Given the description of an element on the screen output the (x, y) to click on. 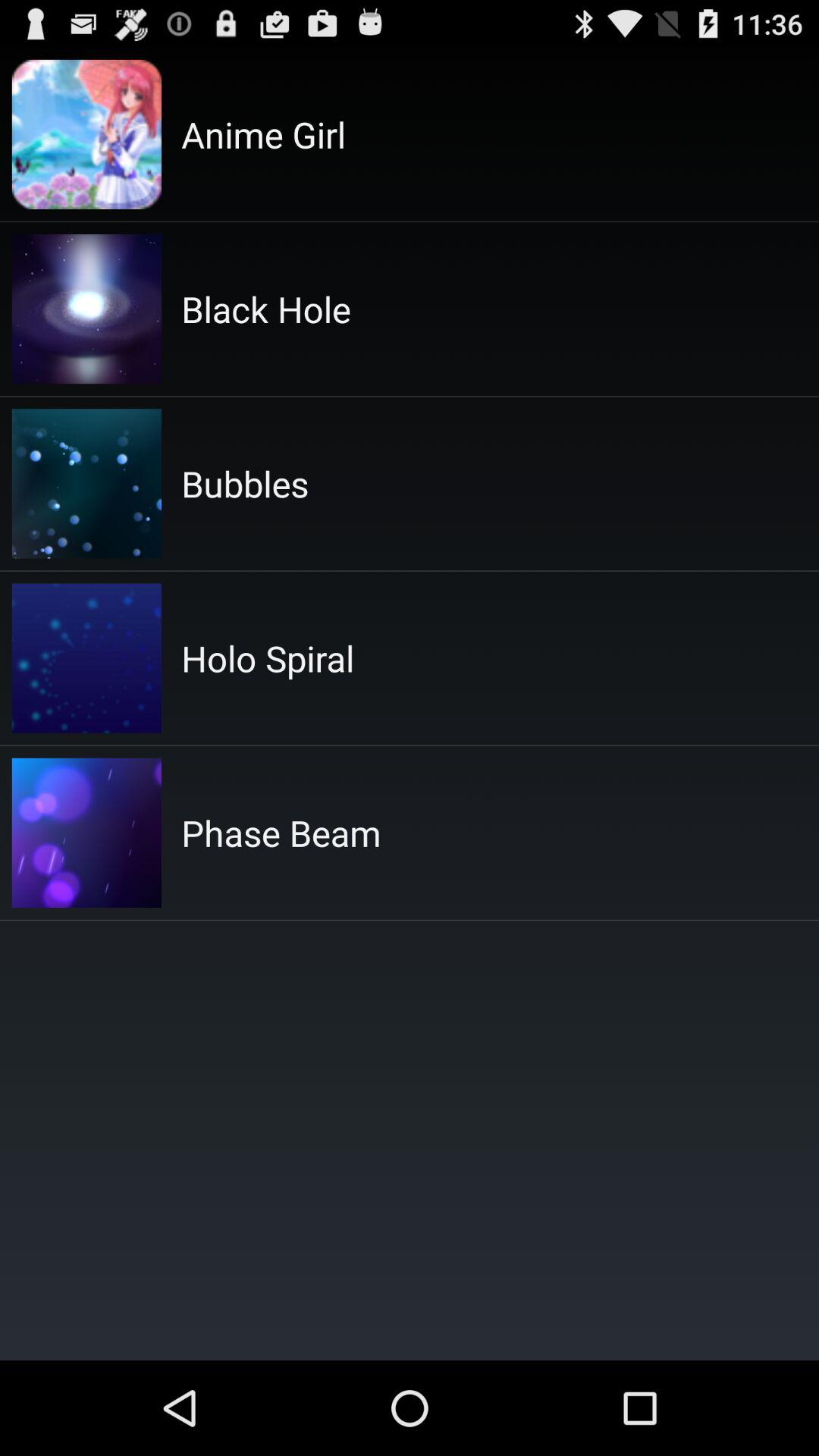
turn off app below anime girl (265, 308)
